Given the description of an element on the screen output the (x, y) to click on. 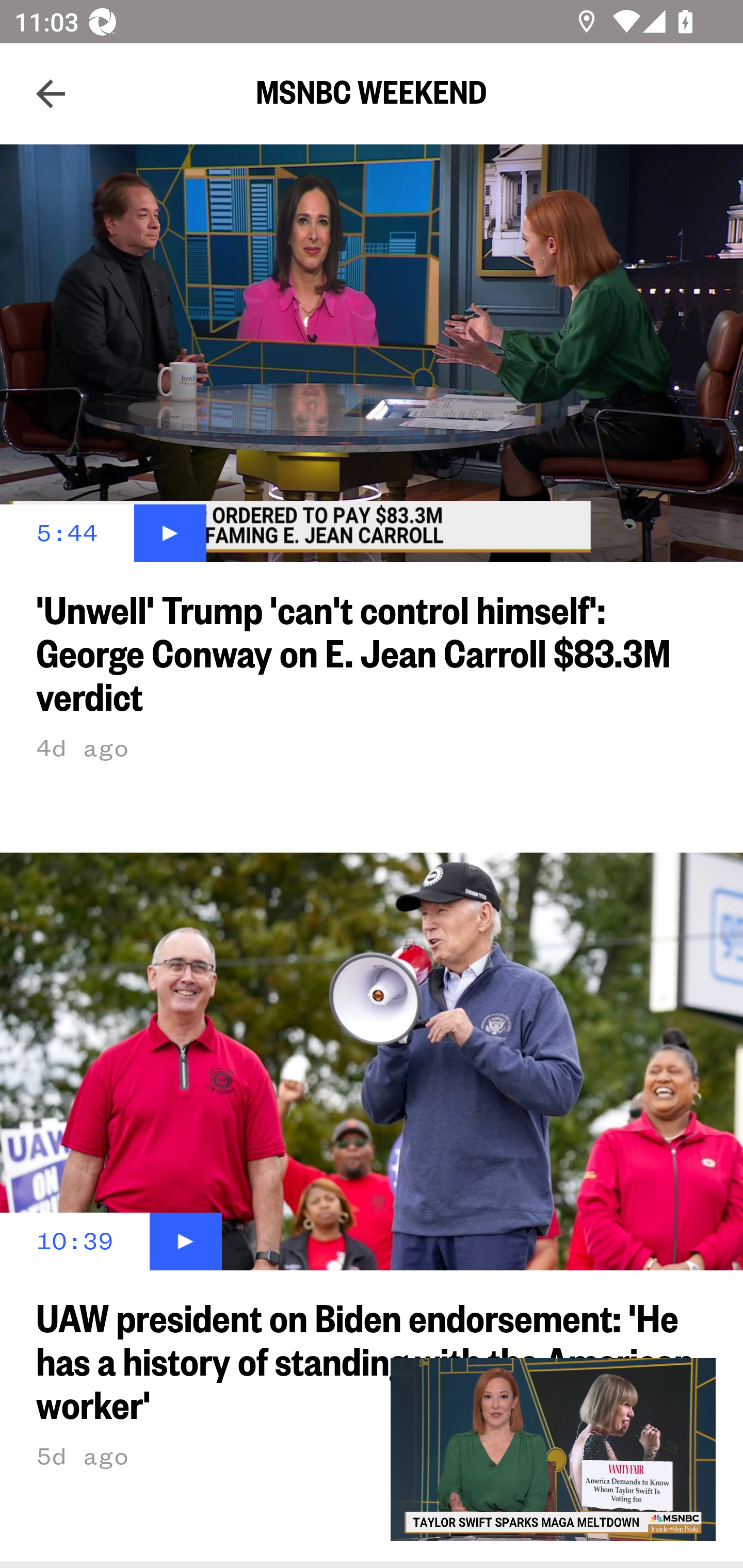
Navigate up (50, 93)
